Given the description of an element on the screen output the (x, y) to click on. 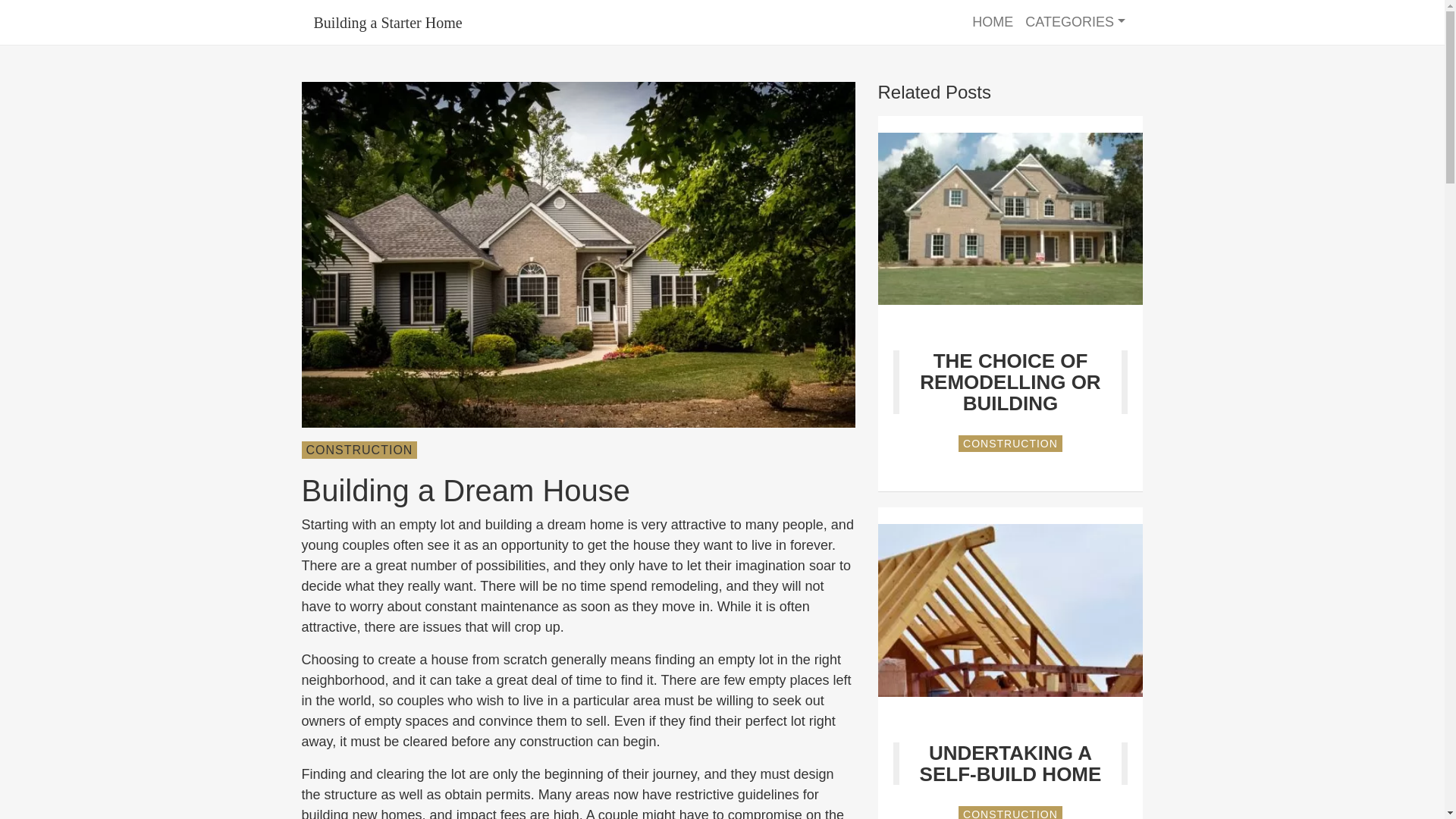
HOME (992, 21)
Building a Starter Home (634, 22)
CATEGORIES (1075, 21)
CONSTRUCTION (359, 449)
UNDERTAKING A SELF-BUILD HOME (1011, 763)
THE CHOICE OF REMODELLING OR BUILDING (1010, 381)
CONSTRUCTION (1010, 812)
CONSTRUCTION (1010, 443)
